Given the description of an element on the screen output the (x, y) to click on. 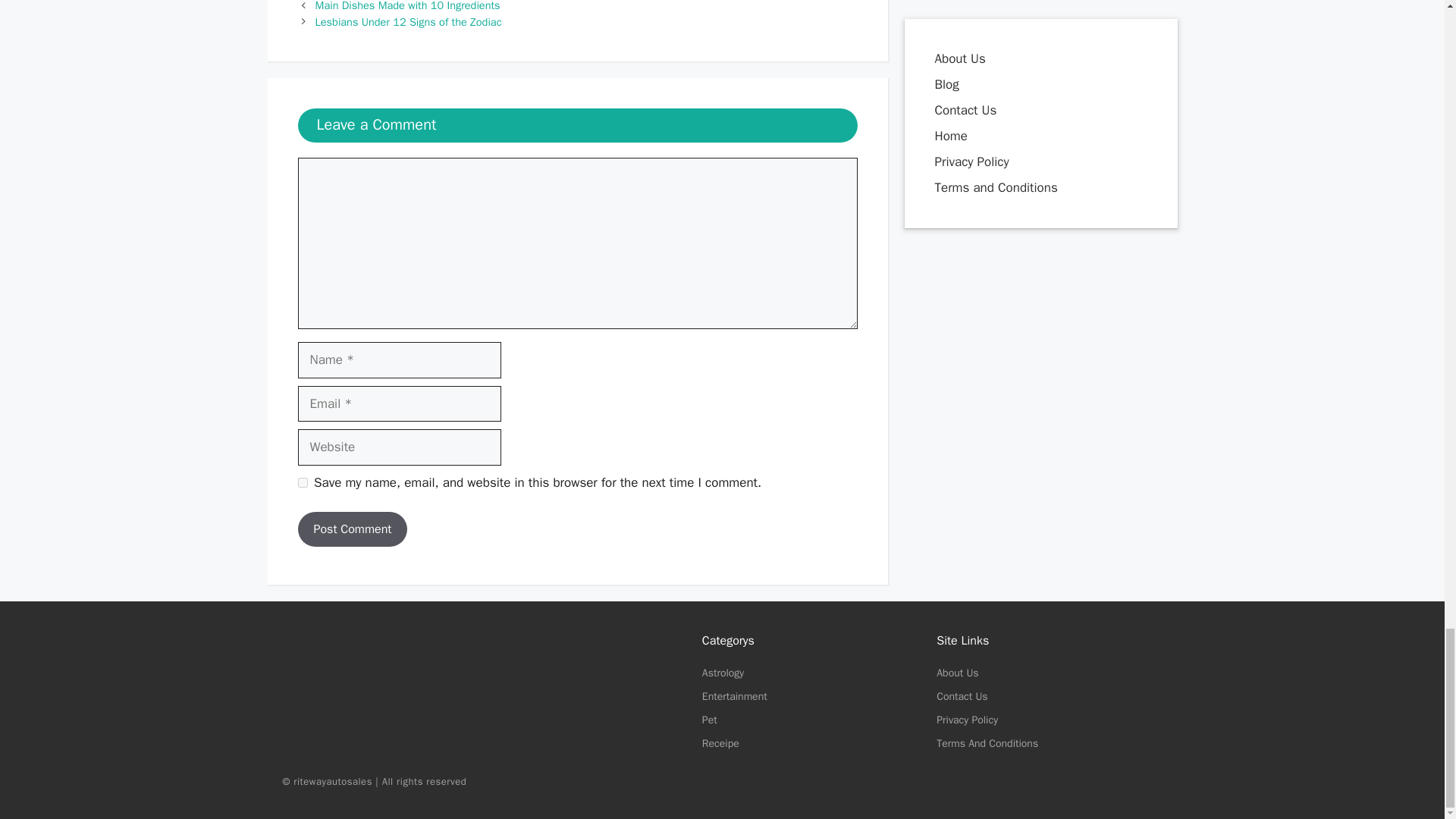
yes (302, 482)
Astrology (722, 672)
Main Dishes Made with 10 Ingredients (407, 6)
Pet (709, 719)
Post Comment (352, 529)
Entertainment (734, 696)
Lesbians Under 12 Signs of the Zodiac (408, 21)
Post Comment (352, 529)
